Given the description of an element on the screen output the (x, y) to click on. 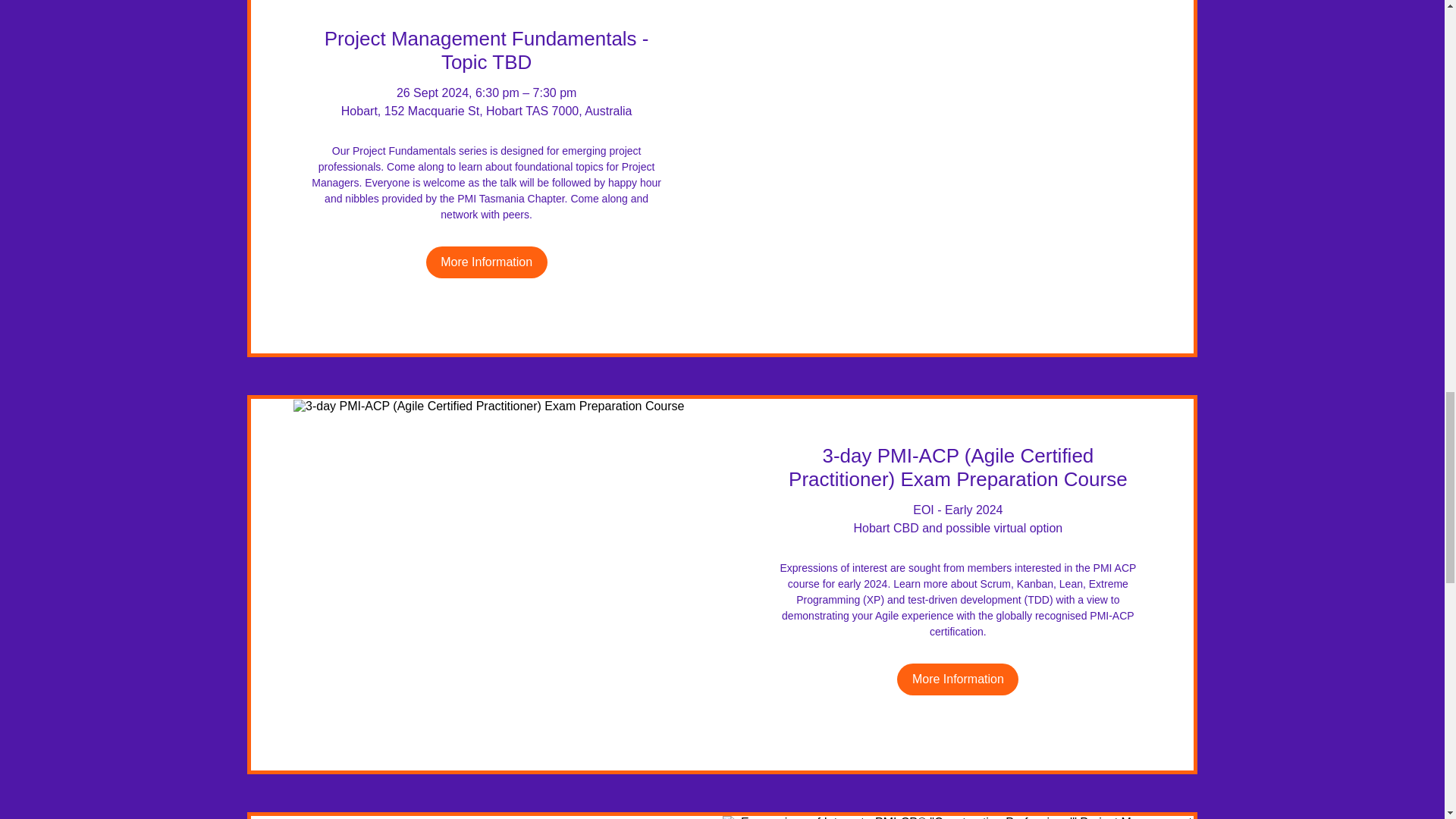
Project Management Fundamentals - Topic TBD (486, 50)
More Information (956, 679)
More Information (486, 262)
